Given the description of an element on the screen output the (x, y) to click on. 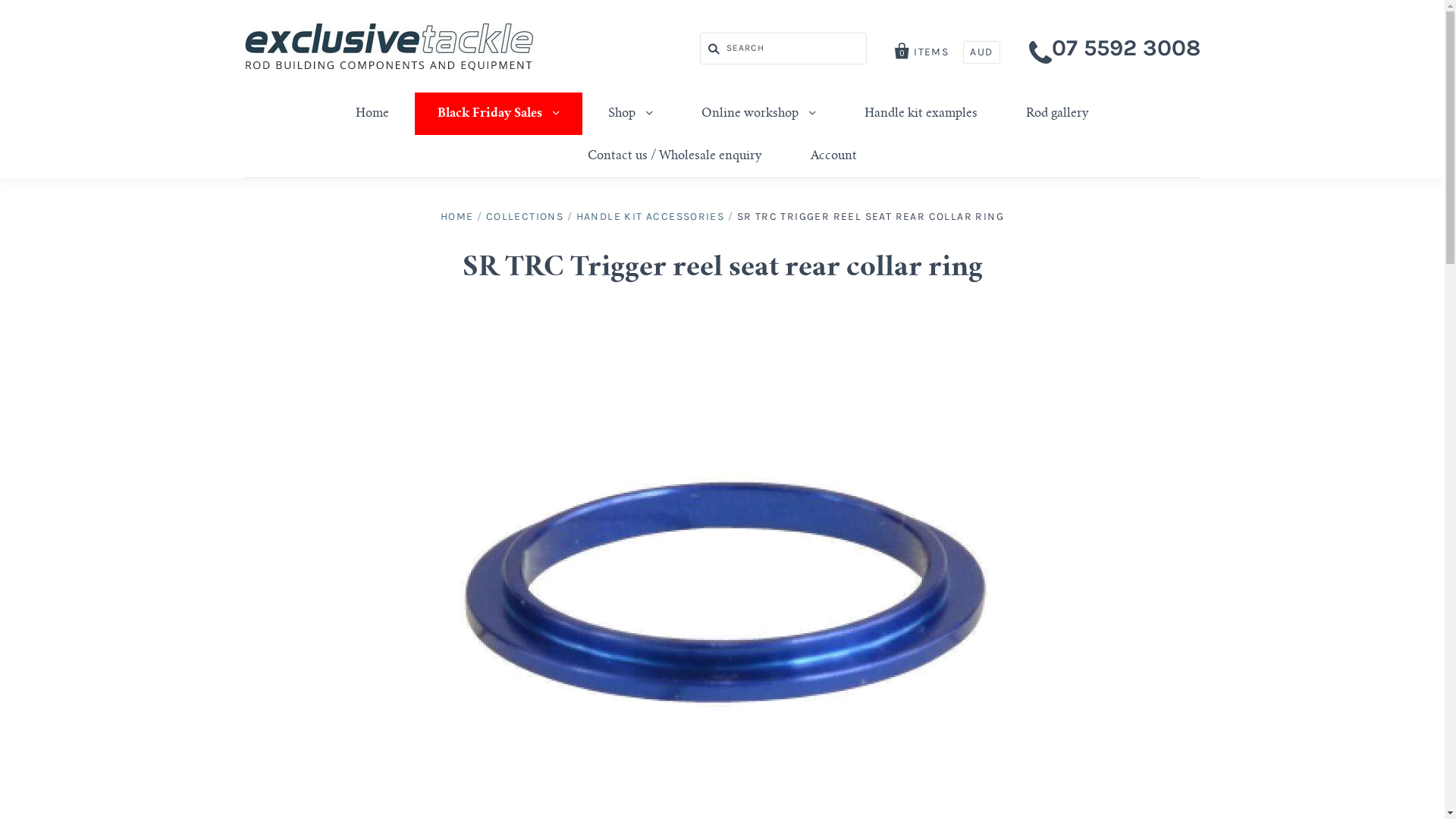
07 5592 3008 Element type: text (1125, 47)
HANDLE KIT ACCESSORIES Element type: text (650, 216)
Shop Element type: text (630, 113)
Contact us / Wholesale enquiry Element type: text (674, 155)
Home Element type: text (371, 113)
Account Element type: text (833, 155)
COLLECTIONS Element type: text (524, 216)
Rod gallery Element type: text (1057, 113)
HOME Element type: text (456, 216)
Handle kit examples Element type: text (920, 113)
Black Friday Sales Element type: text (498, 113)
Online workshop Element type: text (758, 113)
0
ITEMS Element type: text (921, 48)
